Given the description of an element on the screen output the (x, y) to click on. 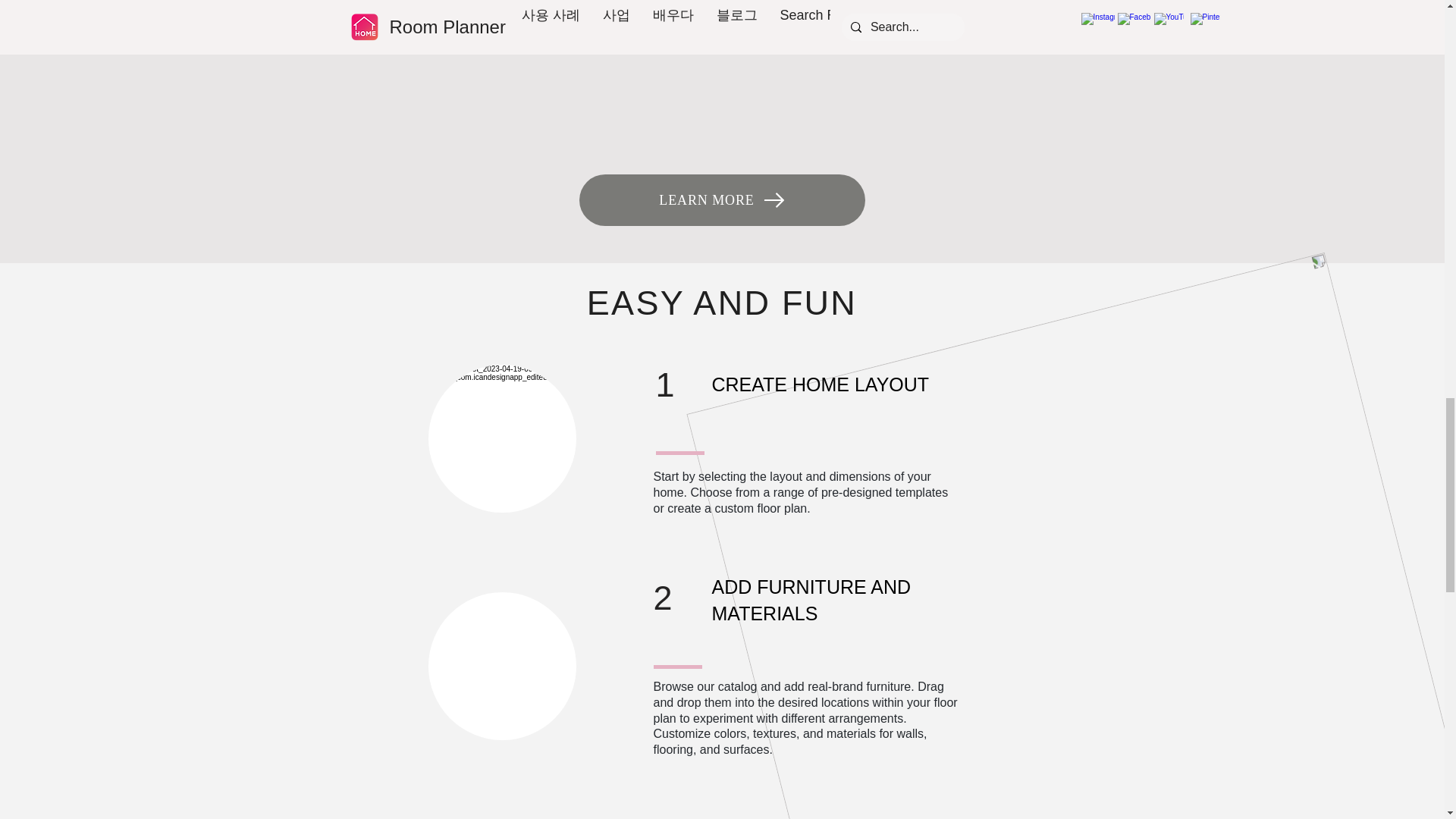
LEARN MORE (721, 200)
